Given the description of an element on the screen output the (x, y) to click on. 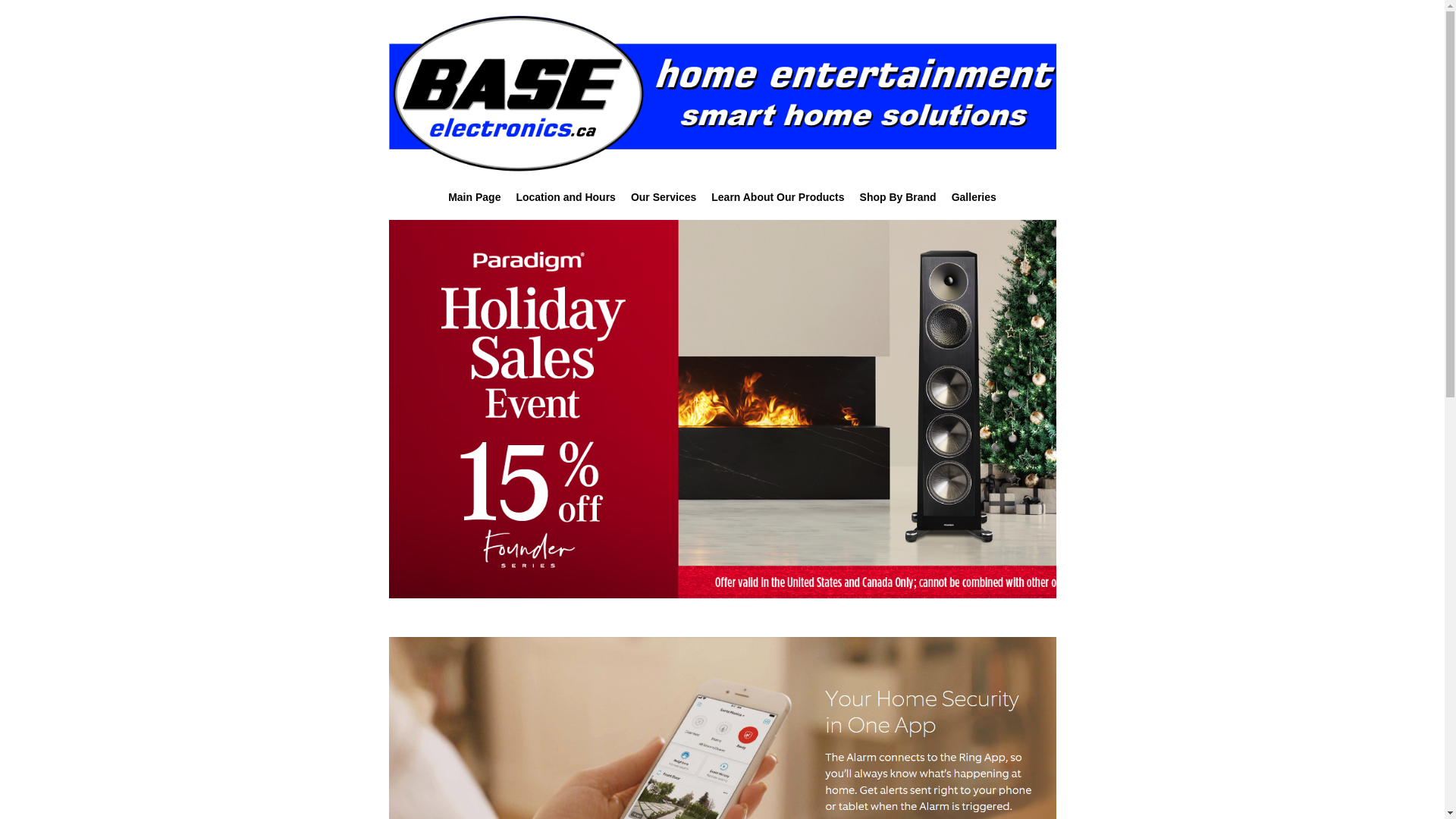
Galleries Element type: text (974, 197)
Our Services Element type: text (663, 197)
Main Page Element type: text (474, 197)
Location and Hours Element type: text (565, 197)
Learn About Our Products Element type: text (777, 197)
Shop By Brand Element type: text (898, 197)
Paradigm Founder Series on Sale! Element type: hover (748, 408)
